Given the description of an element on the screen output the (x, y) to click on. 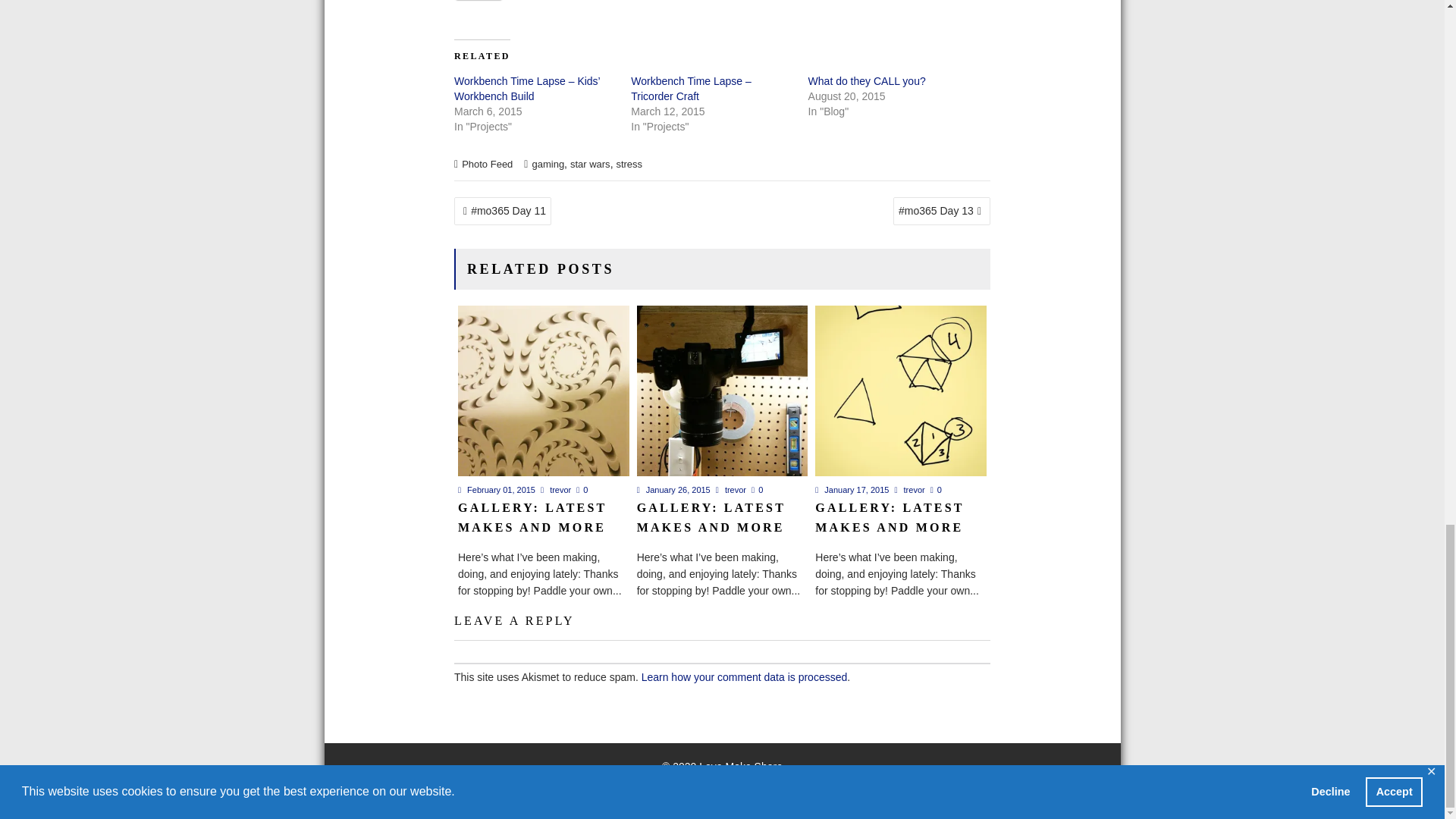
Like or Reblog (722, 9)
